Given the description of an element on the screen output the (x, y) to click on. 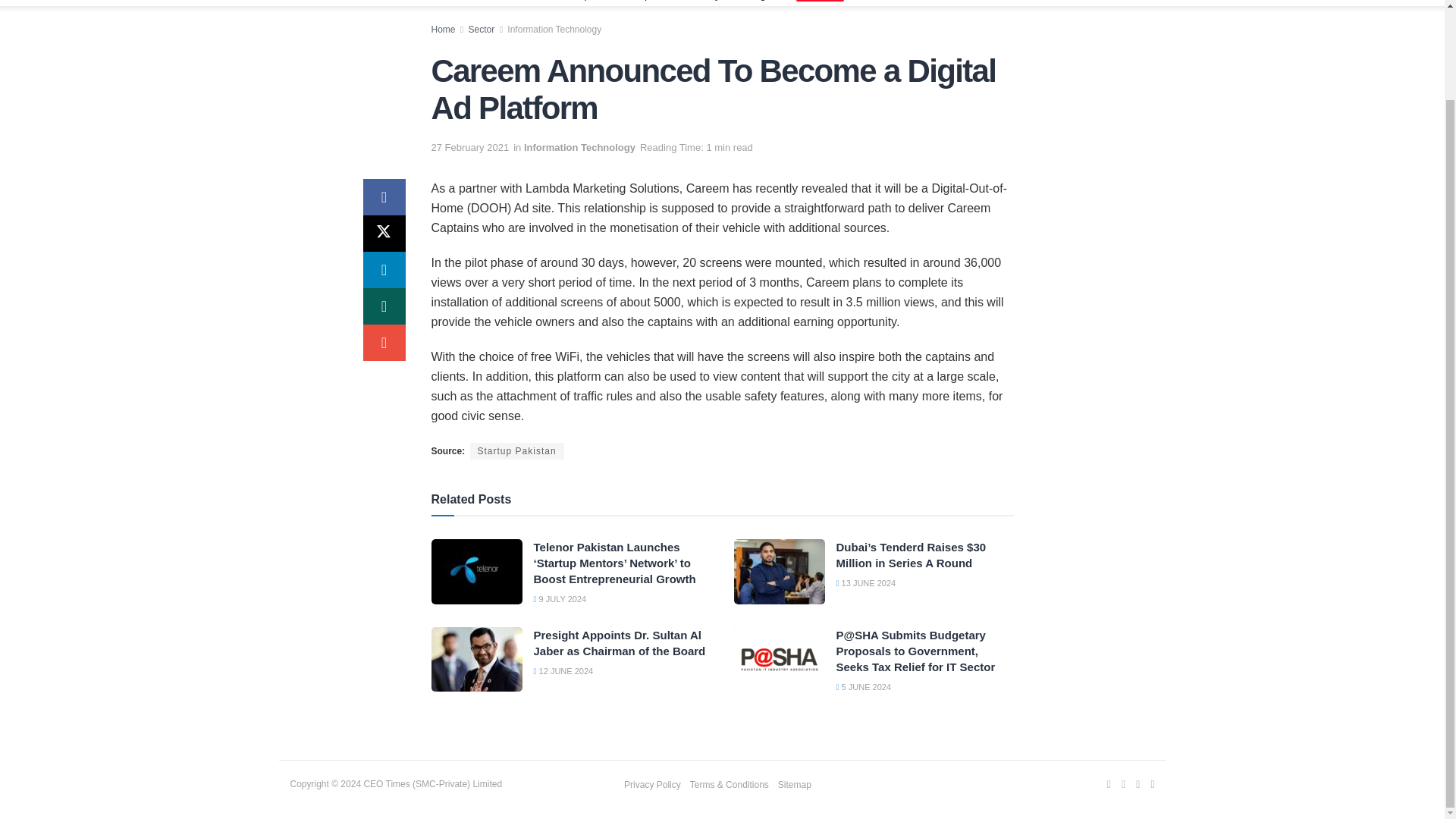
Lifestyle (708, 2)
Podcasts (944, 2)
Home (435, 2)
Opinion (654, 2)
Startup News (588, 2)
Databank (882, 2)
MagazineJUNE 2024 (794, 2)
Business News (501, 2)
Connect (1003, 2)
